Given the description of an element on the screen output the (x, y) to click on. 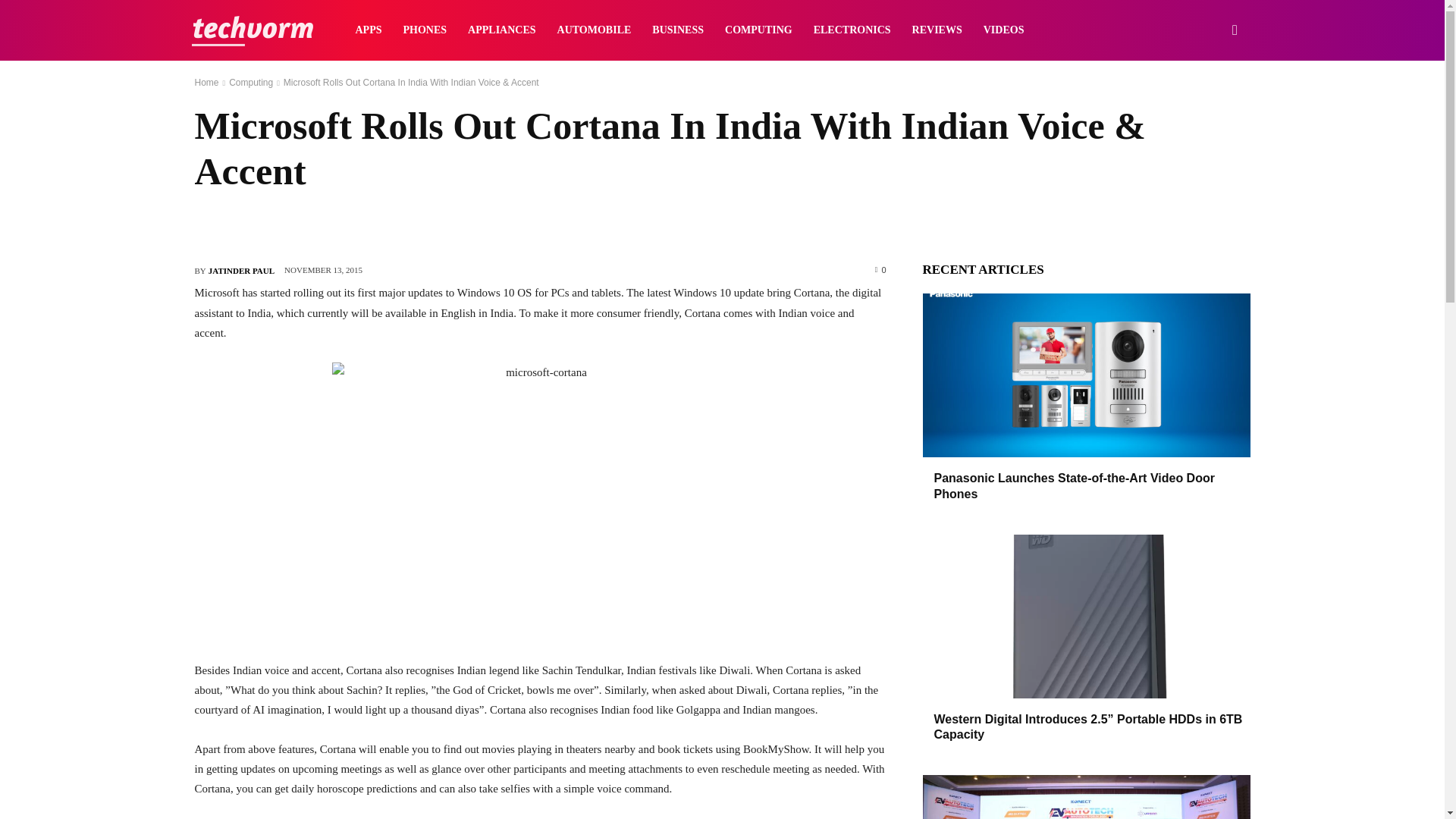
PHONES (425, 30)
ELECTRONICS (852, 30)
VIDEOS (1003, 30)
Computing (250, 81)
APPLIANCES (501, 30)
BUSINESS (678, 30)
View all posts in Computing (250, 81)
Search (1210, 102)
AUTOMOBILE (594, 30)
Home (205, 81)
REVIEWS (936, 30)
COMPUTING (758, 30)
0 (880, 268)
TechVorm (251, 30)
JATINDER PAUL (241, 270)
